Given the description of an element on the screen output the (x, y) to click on. 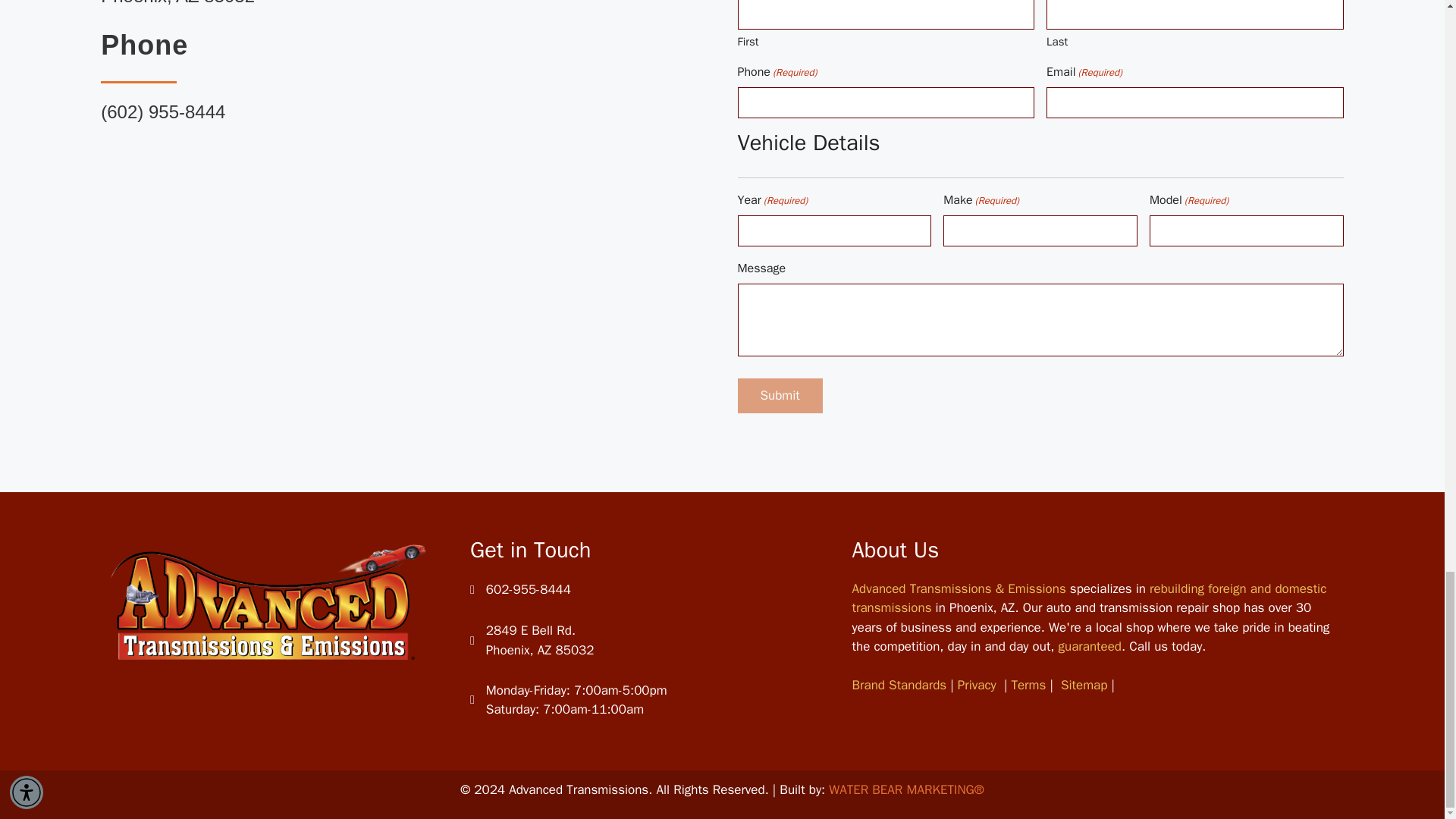
Submit (779, 395)
